Given the description of an element on the screen output the (x, y) to click on. 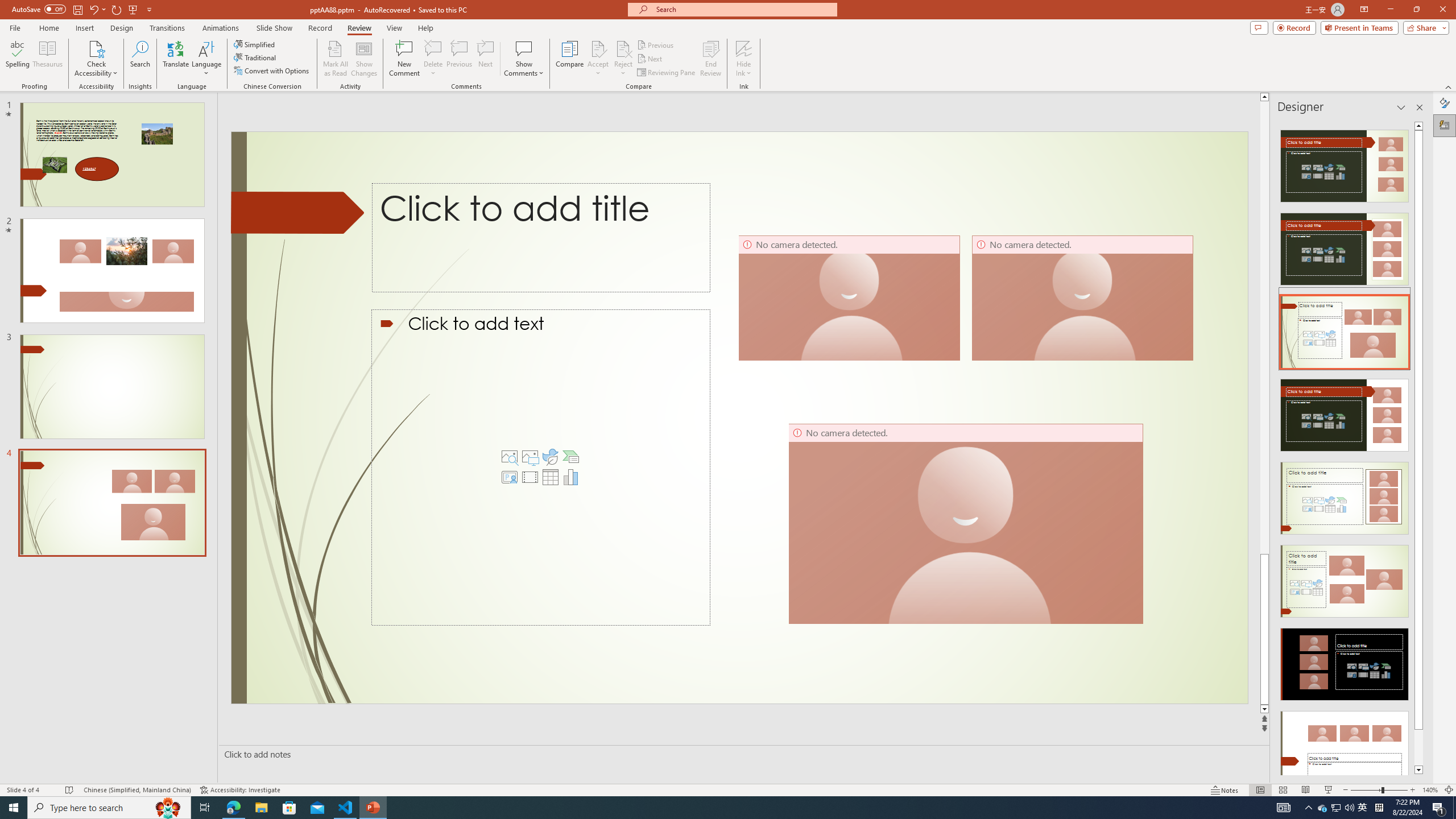
Accept (598, 58)
Thesaurus... (47, 58)
Pictures (529, 456)
Spelling... (17, 58)
Show Comments (524, 48)
Insert Video (529, 477)
Reject Change (622, 48)
Delete (432, 48)
